Given the description of an element on the screen output the (x, y) to click on. 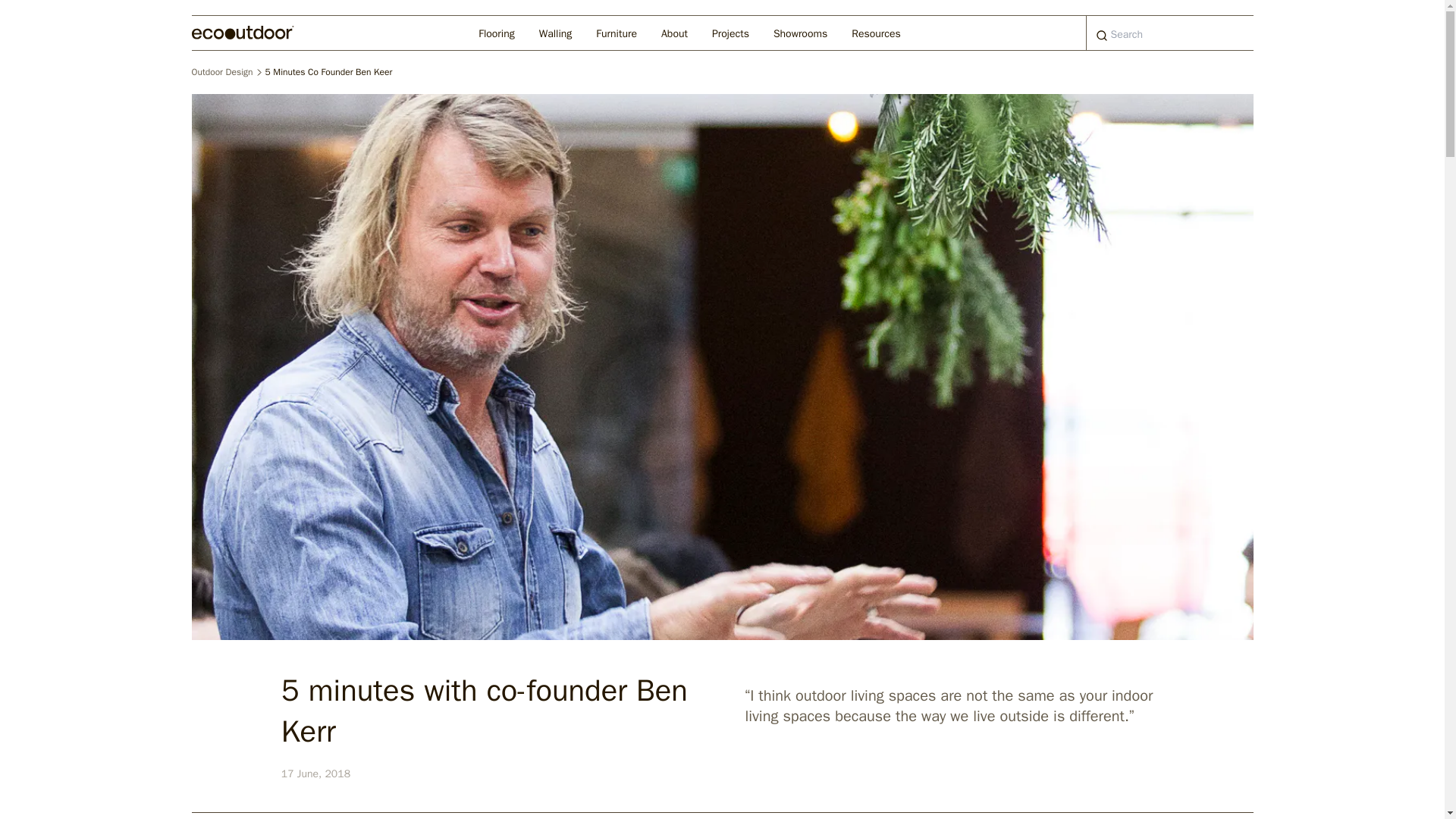
Walling (556, 32)
Furniture (616, 32)
Eco Outdoor (242, 32)
Flooring (496, 32)
Submit (1101, 37)
